Given the description of an element on the screen output the (x, y) to click on. 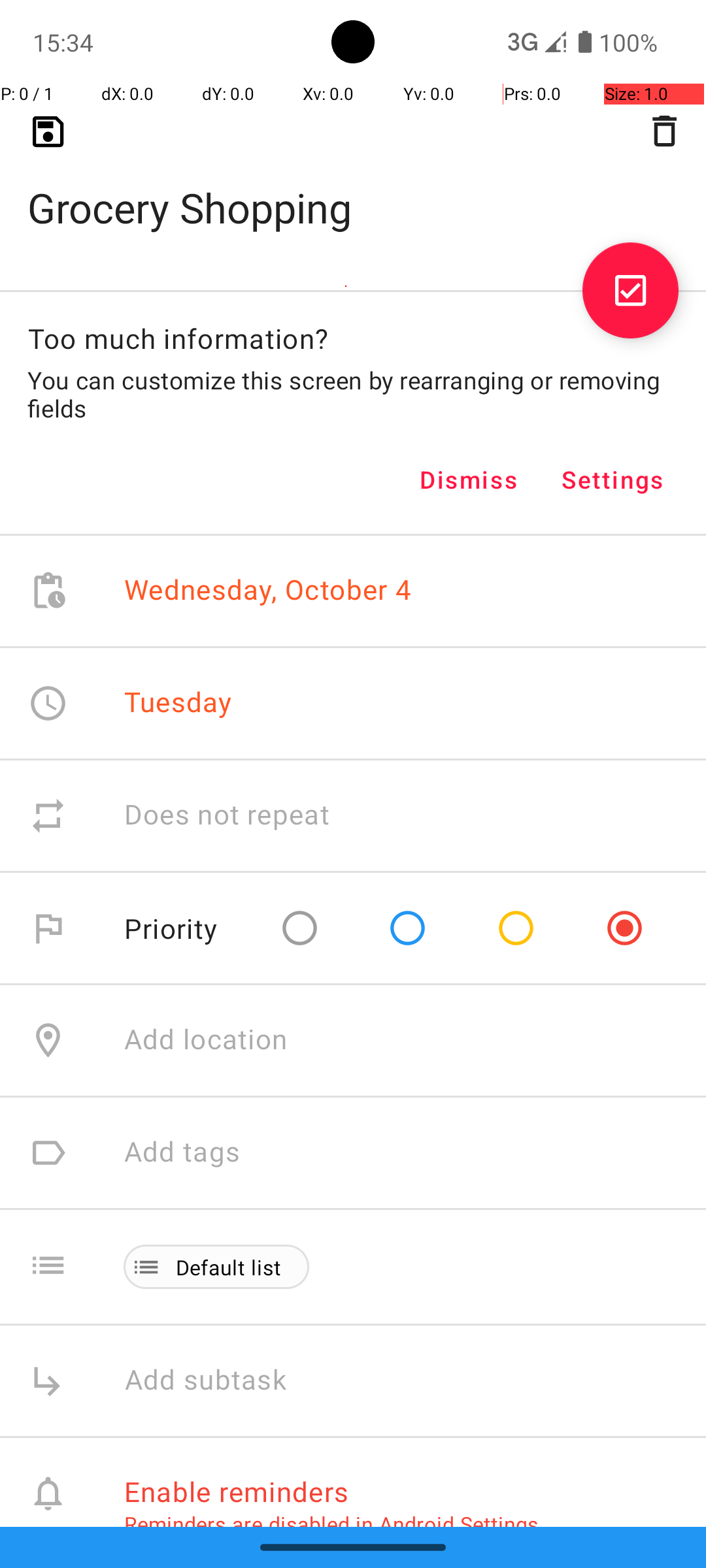
Grocery Shopping Element type: android.widget.EditText (353, 186)
Wednesday, October 4 Element type: android.widget.TextView (267, 590)
Enable reminders Element type: android.widget.TextView (236, 1490)
Reminders are disabled in Android Settings Element type: android.widget.TextView (331, 1523)
